Given the description of an element on the screen output the (x, y) to click on. 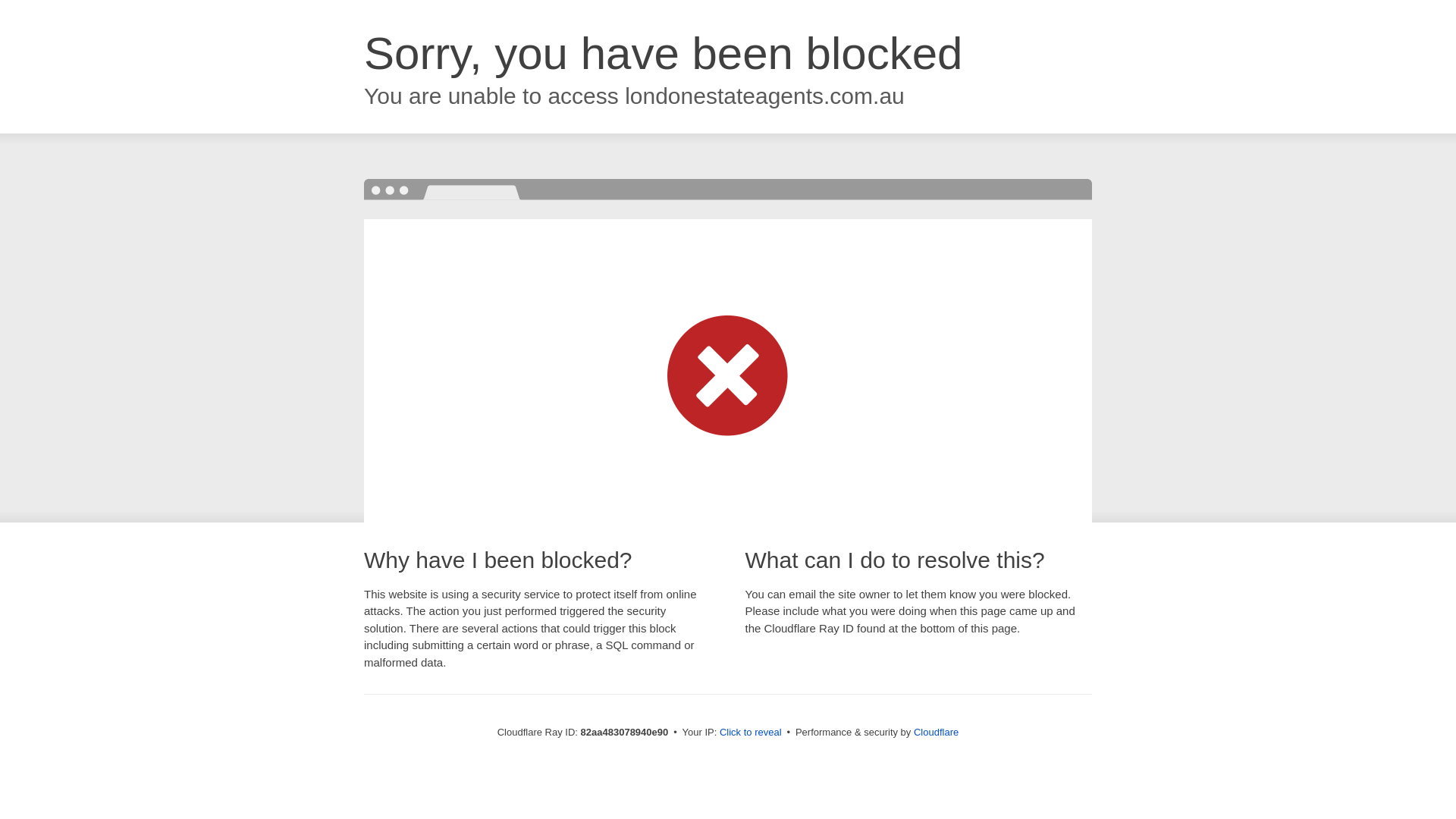
Click to reveal Element type: text (750, 732)
Cloudflare Element type: text (935, 731)
